Given the description of an element on the screen output the (x, y) to click on. 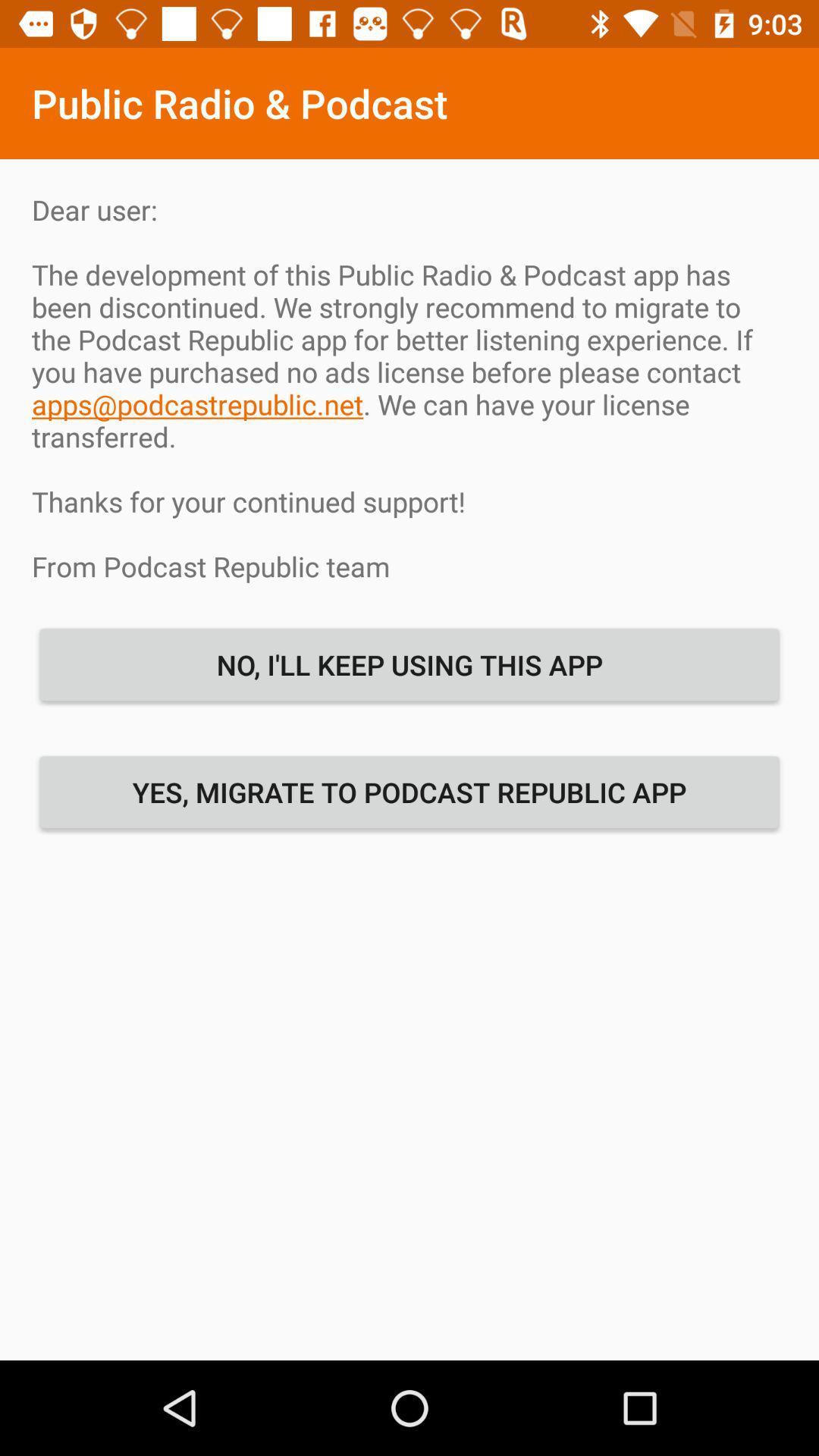
turn on icon below no i ll item (409, 792)
